Given the description of an element on the screen output the (x, y) to click on. 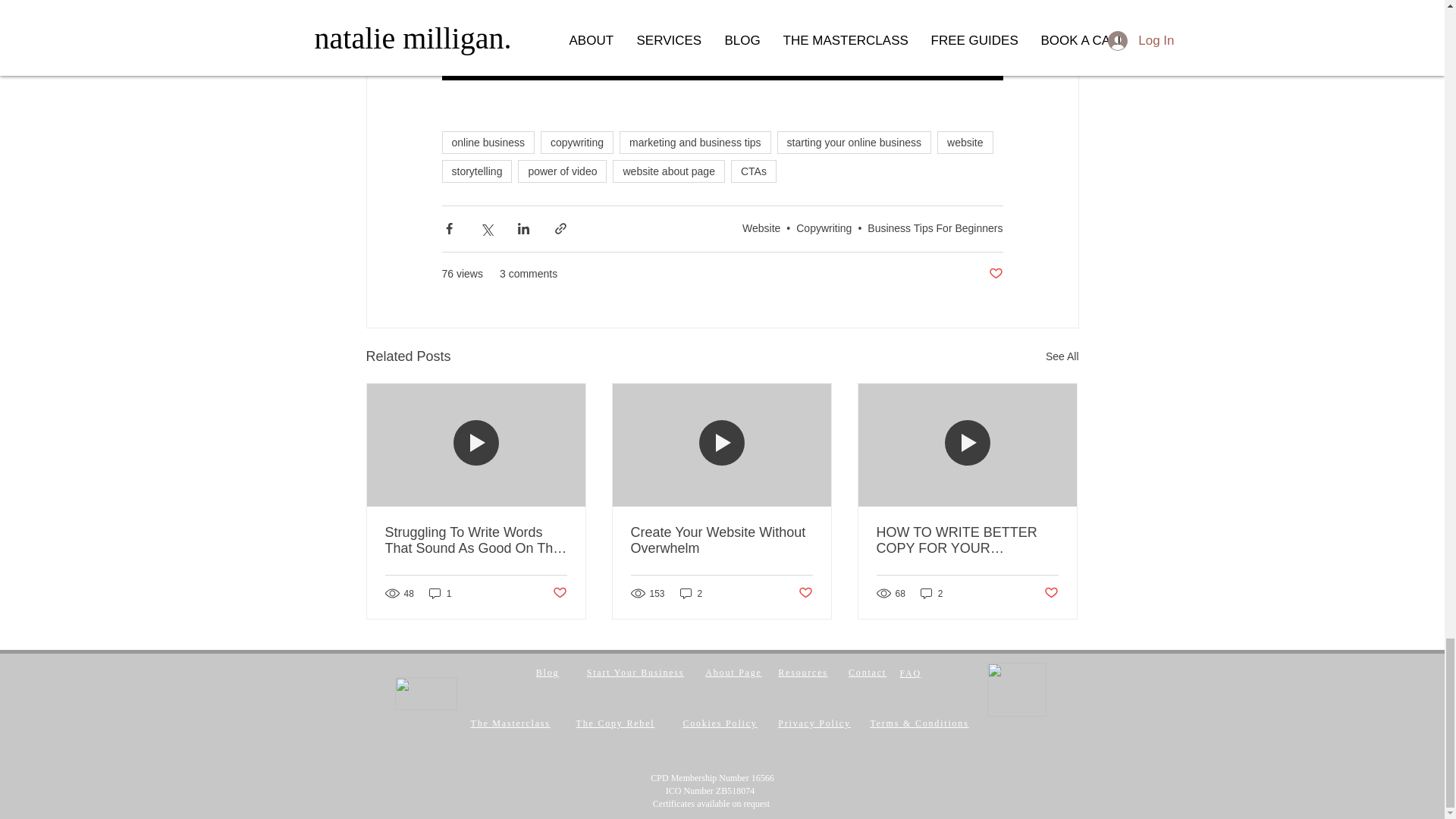
2 (691, 593)
Post not marked as liked (558, 593)
storytelling (476, 170)
See All (1061, 356)
power of video (562, 170)
Logo.png (425, 693)
CTAs (753, 170)
Copywriting (823, 227)
online business (487, 142)
Website (761, 227)
Business Tips For Beginners (935, 227)
Post not marked as liked (804, 593)
starting your online business (854, 142)
